Given the description of an element on the screen output the (x, y) to click on. 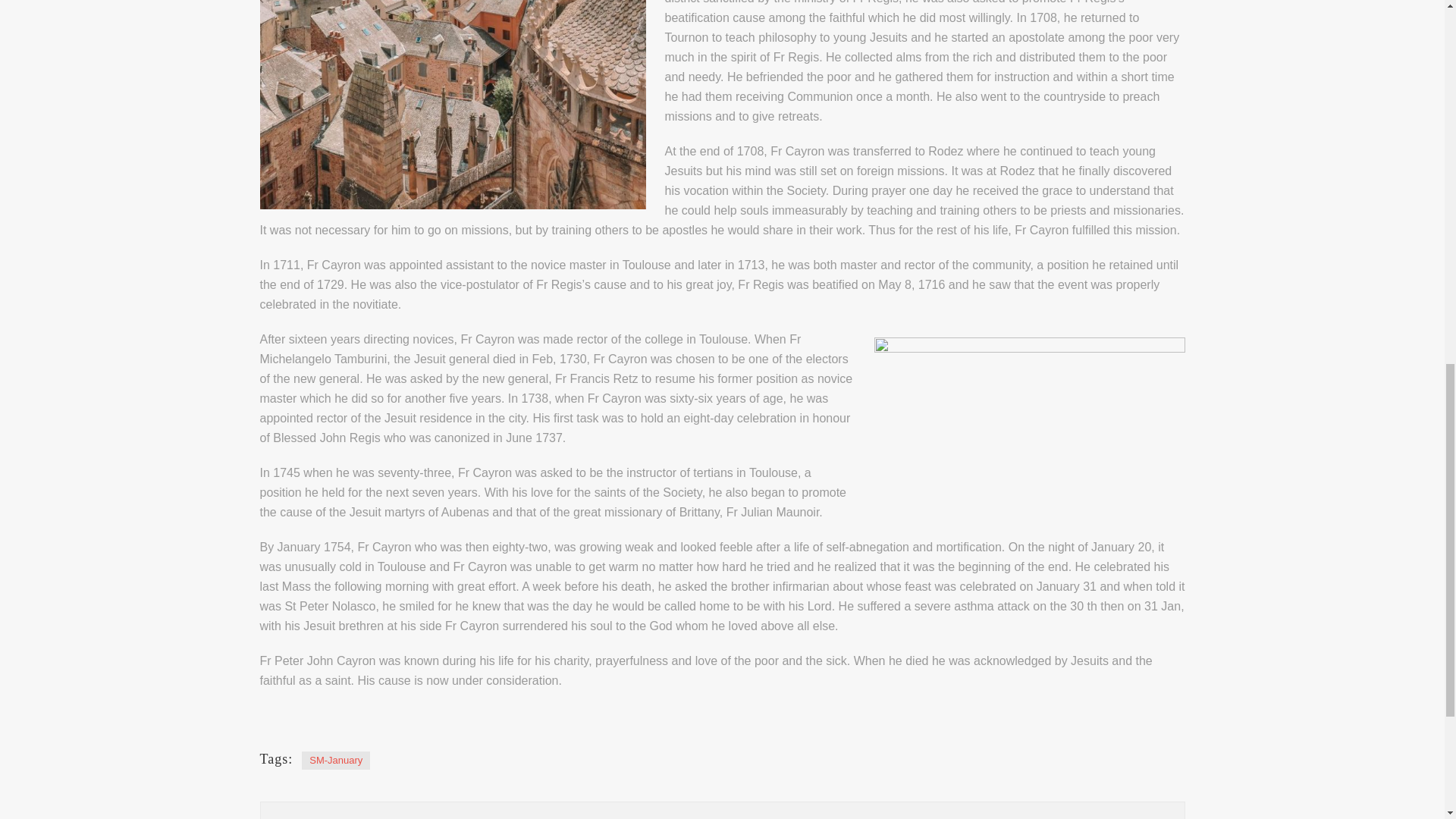
SM-January (335, 760)
